Given the description of an element on the screen output the (x, y) to click on. 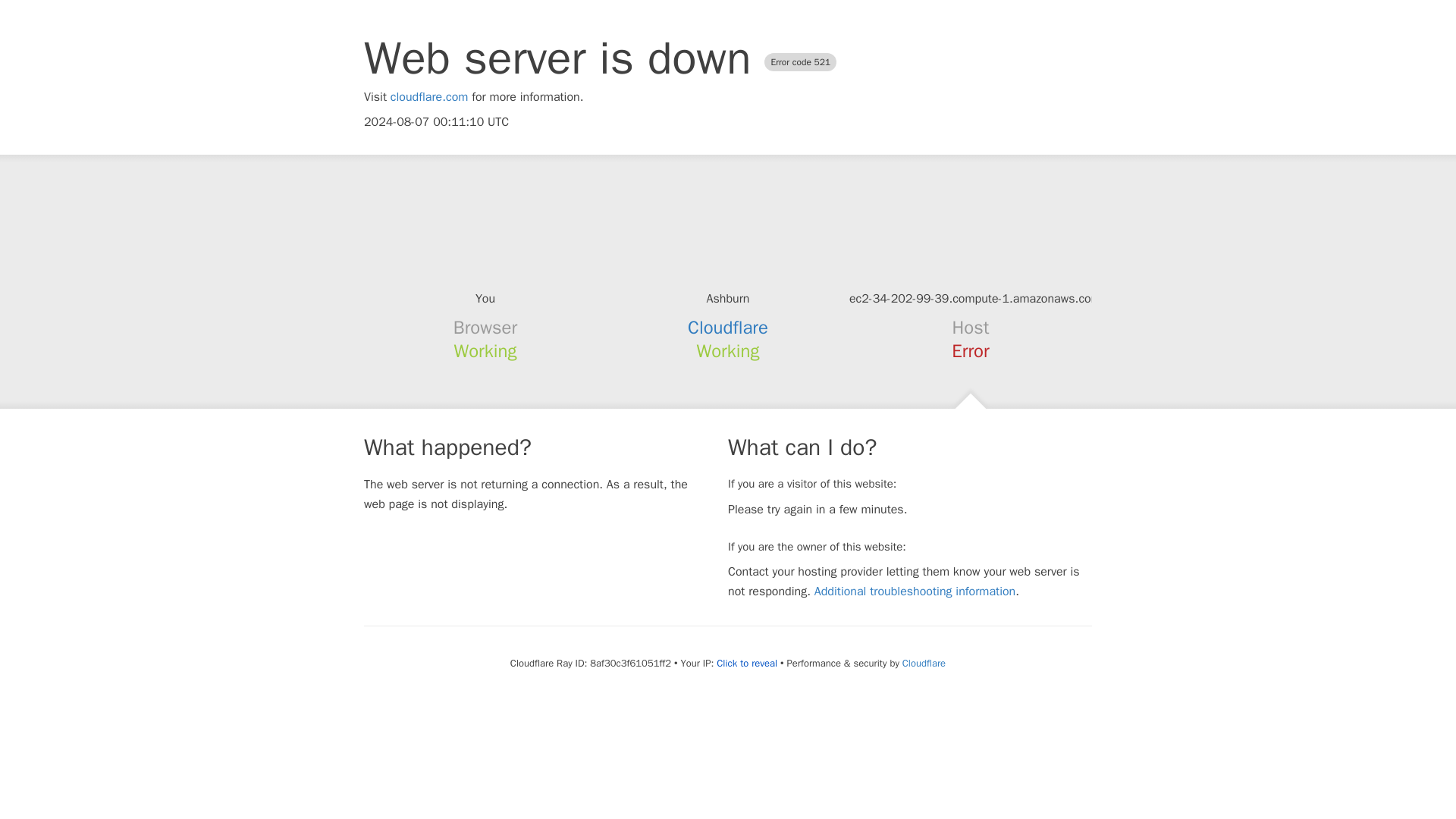
Cloudflare (727, 327)
Click to reveal (746, 663)
Additional troubleshooting information (913, 590)
cloudflare.com (429, 96)
Cloudflare (923, 662)
